Given the description of an element on the screen output the (x, y) to click on. 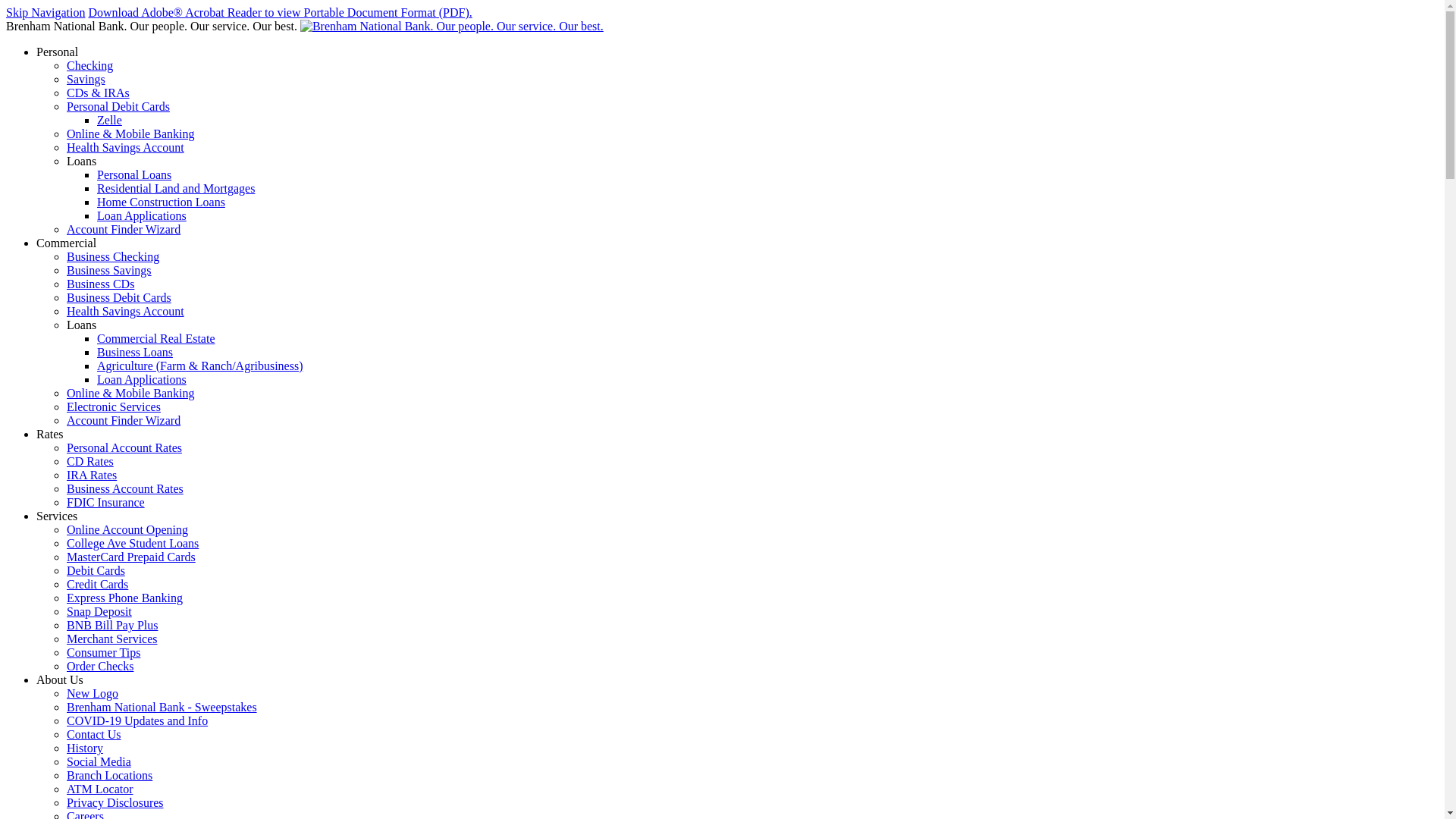
Residential Land and Mortgages Element type: text (175, 188)
FDIC Insurance Element type: text (105, 501)
Social Media Element type: text (98, 761)
New Logo Element type: text (92, 693)
Brenham National Bank - Sweepstakes Element type: text (161, 706)
Home Construction Loans Element type: text (161, 201)
Privacy Disclosures Element type: text (114, 802)
Consumer Tips Element type: text (103, 652)
Business Account Rates Element type: text (124, 488)
Commercial Real Estate Element type: text (156, 338)
Online & Mobile Banking Element type: text (130, 392)
College Ave Student Loans Element type: text (132, 542)
Branch Locations Element type: text (109, 774)
Electronic Services Element type: text (113, 406)
Online Account Opening Element type: text (127, 529)
Business Debit Cards Element type: text (118, 297)
Contact Us Element type: text (93, 734)
History Element type: text (84, 747)
Express Phone Banking Element type: text (124, 597)
MasterCard Prepaid Cards Element type: text (130, 556)
Personal Loans Element type: text (134, 174)
Business Checking Element type: text (112, 256)
BNB Bill Pay Plus Element type: text (111, 624)
Personal Debit Cards Element type: text (117, 106)
Business CDs Element type: text (100, 283)
CDs & IRAs Element type: text (97, 92)
Merchant Services Element type: text (111, 638)
Debit Cards Element type: text (95, 570)
Account Finder Wizard Element type: text (123, 420)
Agriculture (Farm & Ranch/Agribusiness) Element type: text (200, 365)
IRA Rates Element type: text (91, 474)
Zelle Element type: text (109, 119)
Account Finder Wizard Element type: text (123, 228)
CD Rates Element type: text (89, 461)
Business Savings Element type: text (108, 269)
Loan Applications Element type: text (141, 379)
Order Checks Element type: text (99, 665)
Personal Account Rates Element type: text (124, 447)
Skip Navigation Element type: text (45, 12)
Savings Element type: text (85, 78)
Credit Cards Element type: text (97, 583)
Loan Applications Element type: text (141, 215)
ATM Locator Element type: text (99, 788)
Online & Mobile Banking Element type: text (130, 133)
Health Savings Account Element type: text (125, 147)
Health Savings Account Element type: text (125, 310)
Checking Element type: text (89, 65)
Business Loans Element type: text (134, 351)
COVID-19 Updates and Info Element type: text (136, 720)
Snap Deposit Element type: text (98, 611)
